Given the description of an element on the screen output the (x, y) to click on. 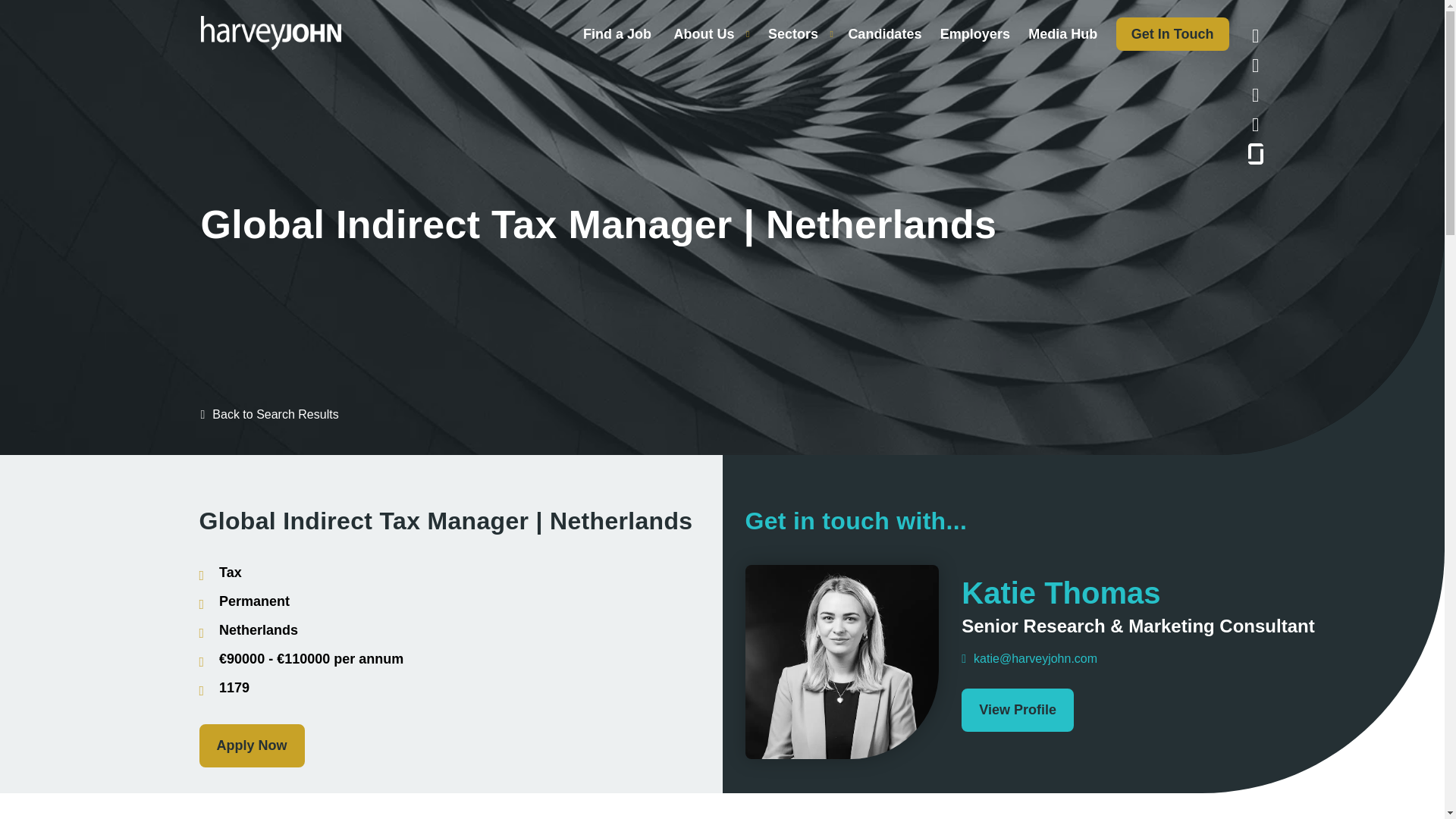
Media Hub (1062, 33)
Find a Job (616, 33)
Sectors (793, 33)
Get In Touch (1172, 33)
About Us (702, 33)
Candidates (884, 33)
Employers (975, 33)
